Given the description of an element on the screen output the (x, y) to click on. 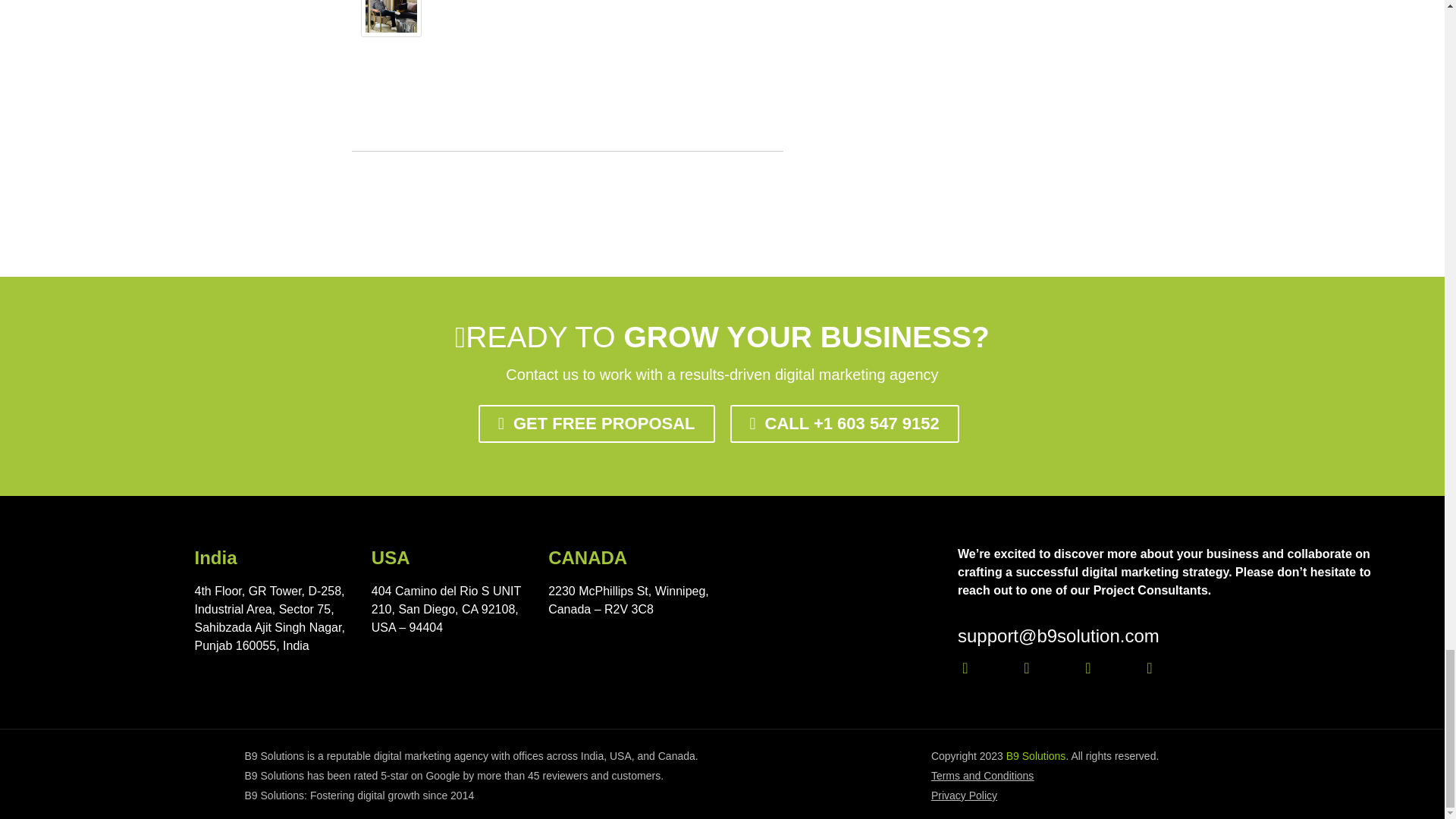
kunal Kakkar (391, 6)
